Given the description of an element on the screen output the (x, y) to click on. 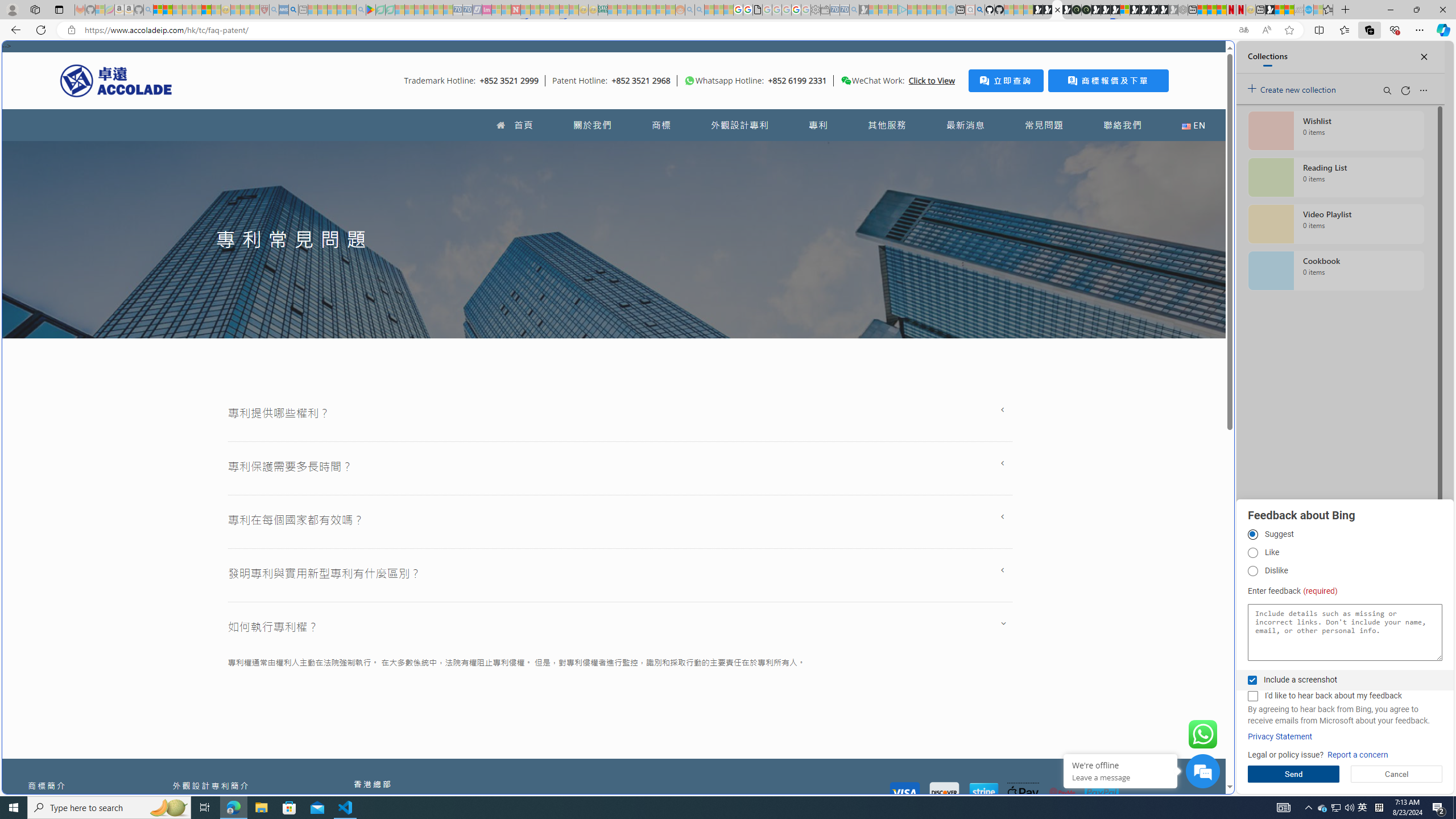
utah sues federal government - Search (292, 9)
